Given the description of an element on the screen output the (x, y) to click on. 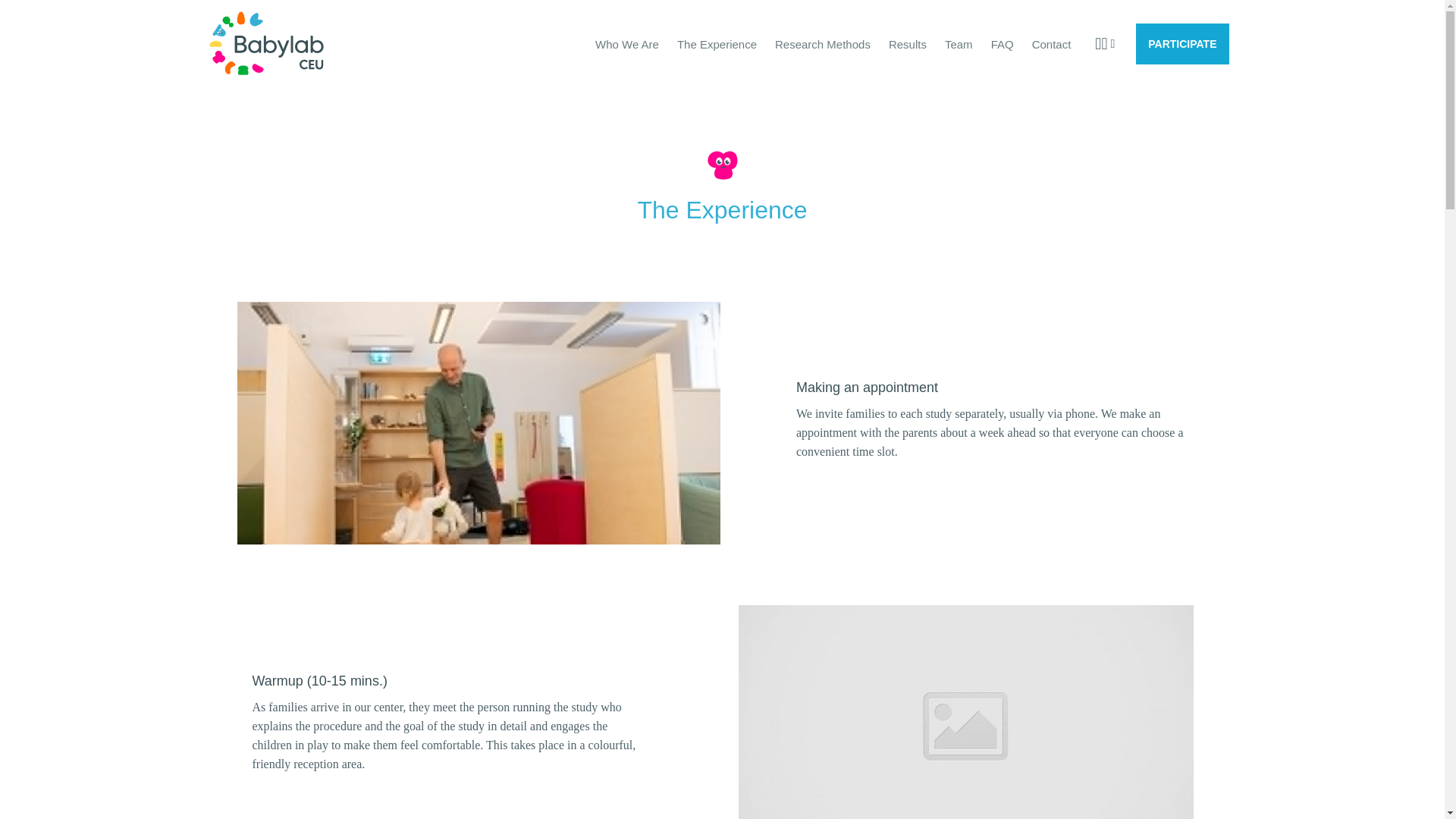
Contact (1051, 43)
Research Methods (822, 43)
The Experience (716, 43)
PARTICIPATE (1181, 43)
Team (958, 43)
Results (907, 43)
FAQ (1002, 43)
Who We Are (627, 43)
